Given the description of an element on the screen output the (x, y) to click on. 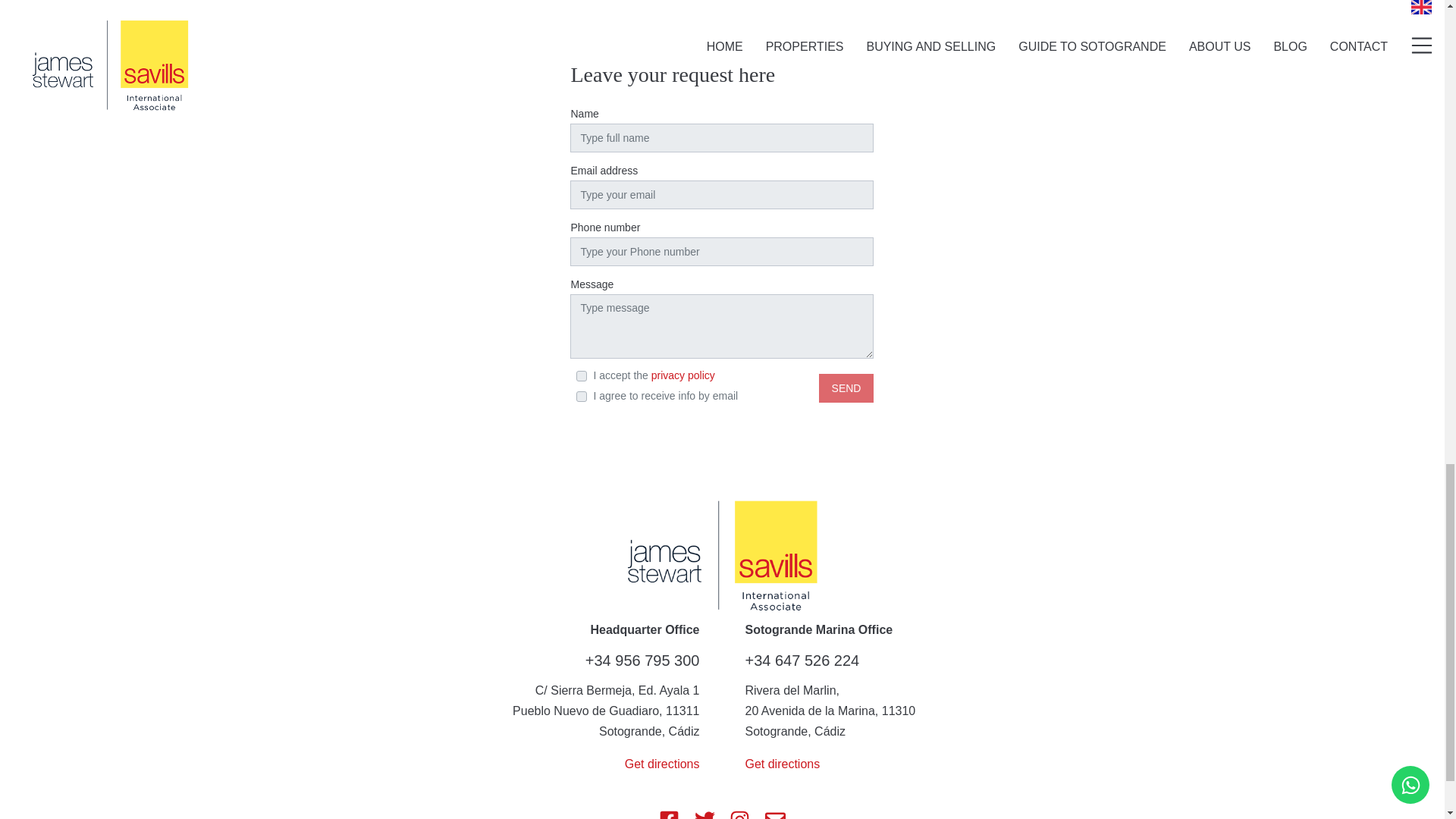
Get directions (662, 763)
Get directions (781, 763)
privacy policy (682, 375)
SEND (846, 387)
privacy policy (682, 375)
